Given the description of an element on the screen output the (x, y) to click on. 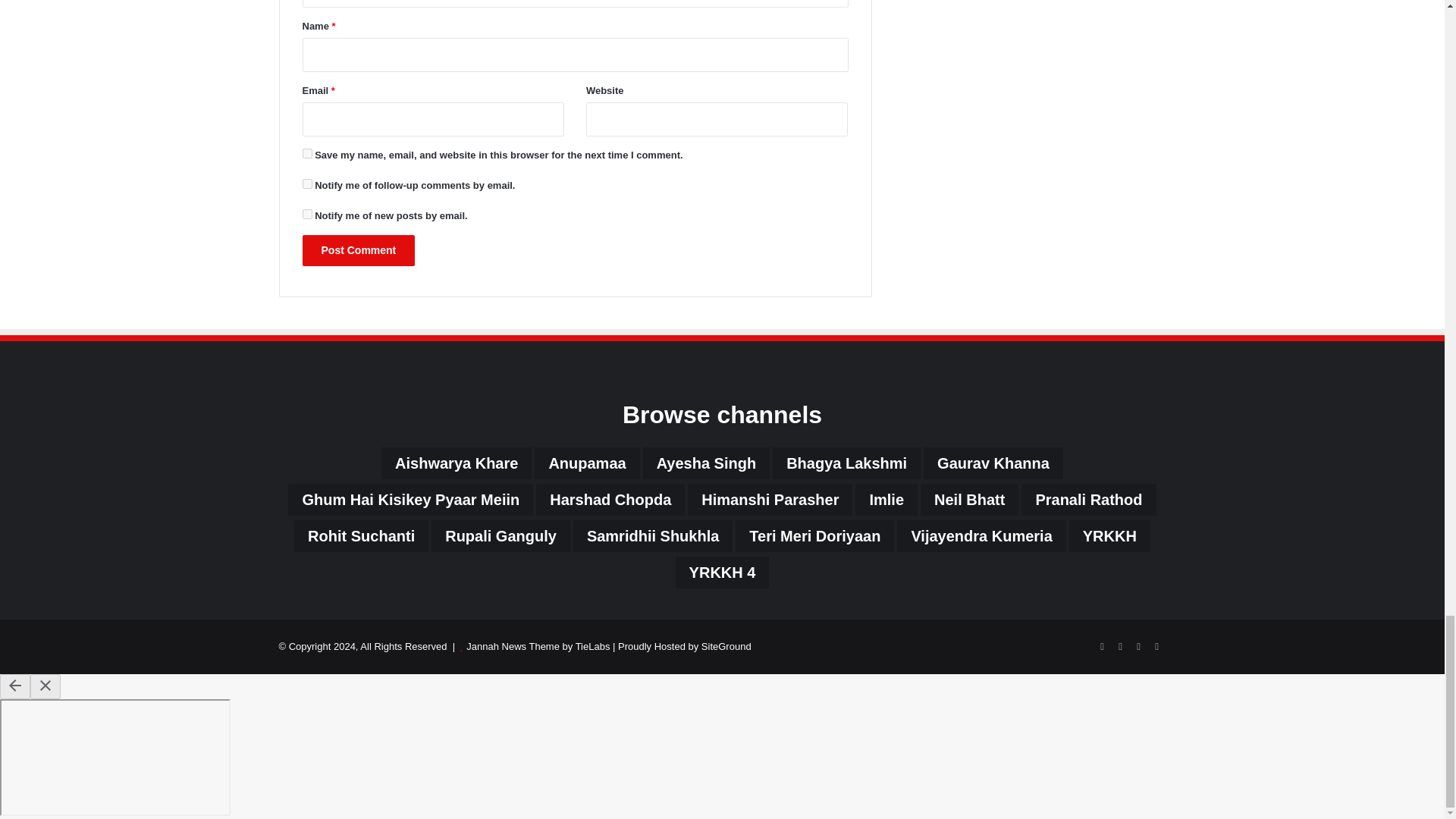
Post Comment (357, 250)
subscribe (306, 184)
subscribe (306, 214)
yes (306, 153)
